Given the description of an element on the screen output the (x, y) to click on. 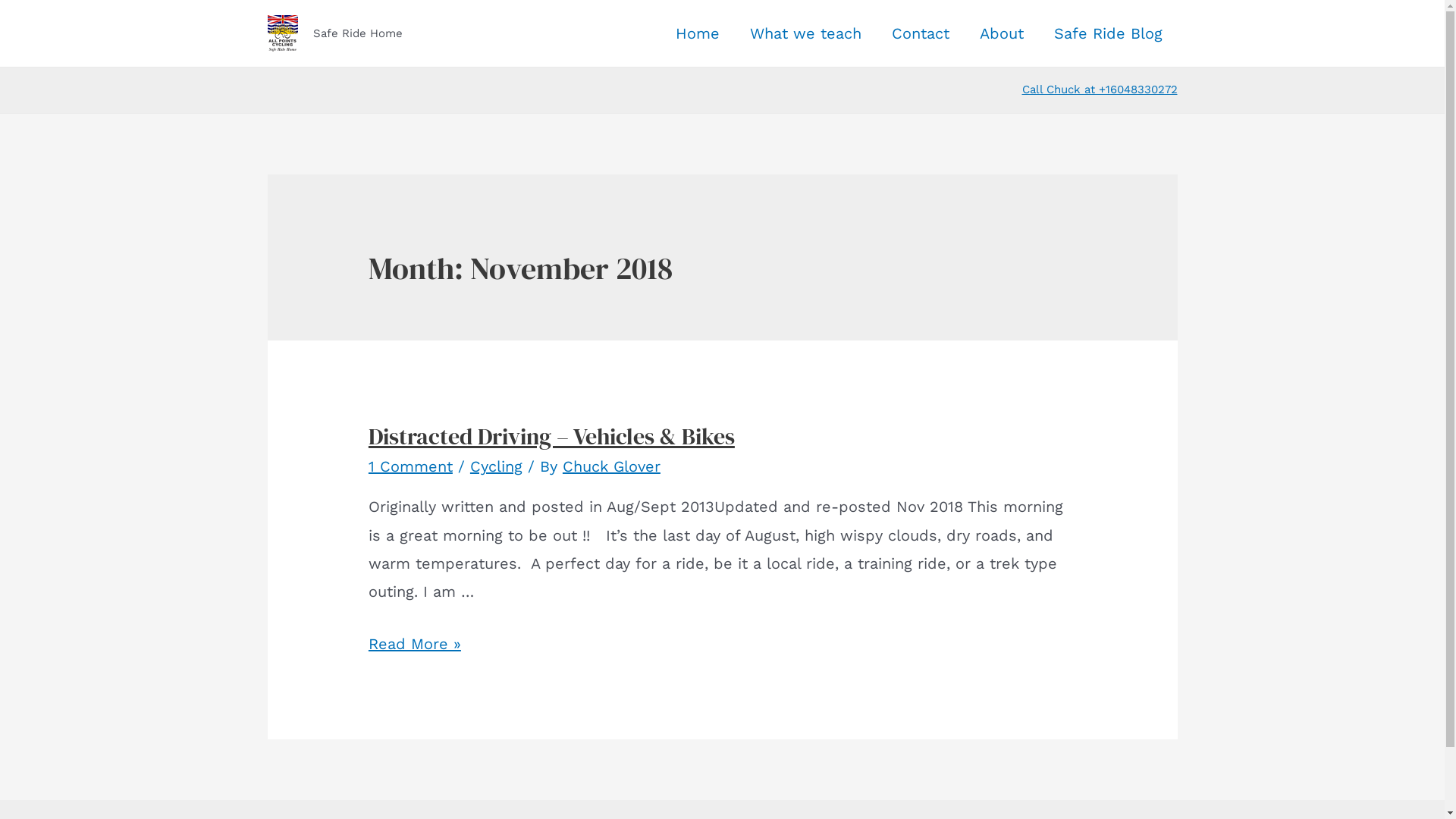
Contact Element type: text (920, 32)
What we teach Element type: text (804, 32)
1 Comment Element type: text (410, 466)
Call Chuck at +16048330272 Element type: text (1099, 89)
Chuck Glover Element type: text (611, 466)
Cycling Element type: text (496, 466)
About Element type: text (1001, 32)
Home Element type: text (696, 32)
Safe Ride Blog Element type: text (1107, 32)
